Given the description of an element on the screen output the (x, y) to click on. 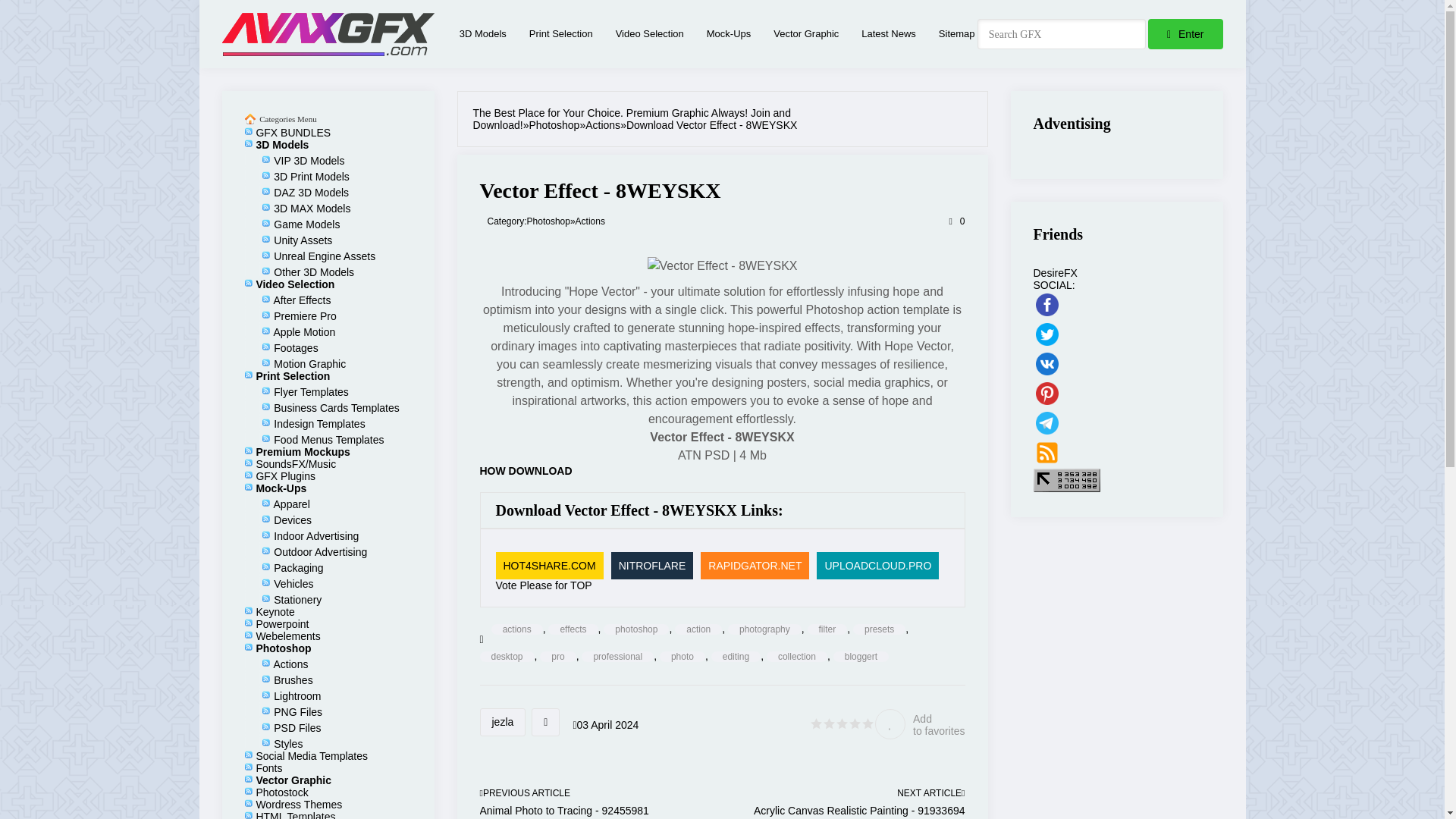
Indesign Templates, Flyer Templates (560, 33)
Footages (295, 347)
3D Models (483, 33)
Flyer Templates (311, 391)
Apparel (291, 503)
GFX Bundles (293, 132)
3D Models (483, 33)
Premium Mockups (302, 451)
Devices (292, 520)
Video Selection (649, 33)
Video Selection (295, 284)
DAZ 3D Models (311, 192)
Print Selection (293, 376)
Food Menus Templates (328, 439)
